Given the description of an element on the screen output the (x, y) to click on. 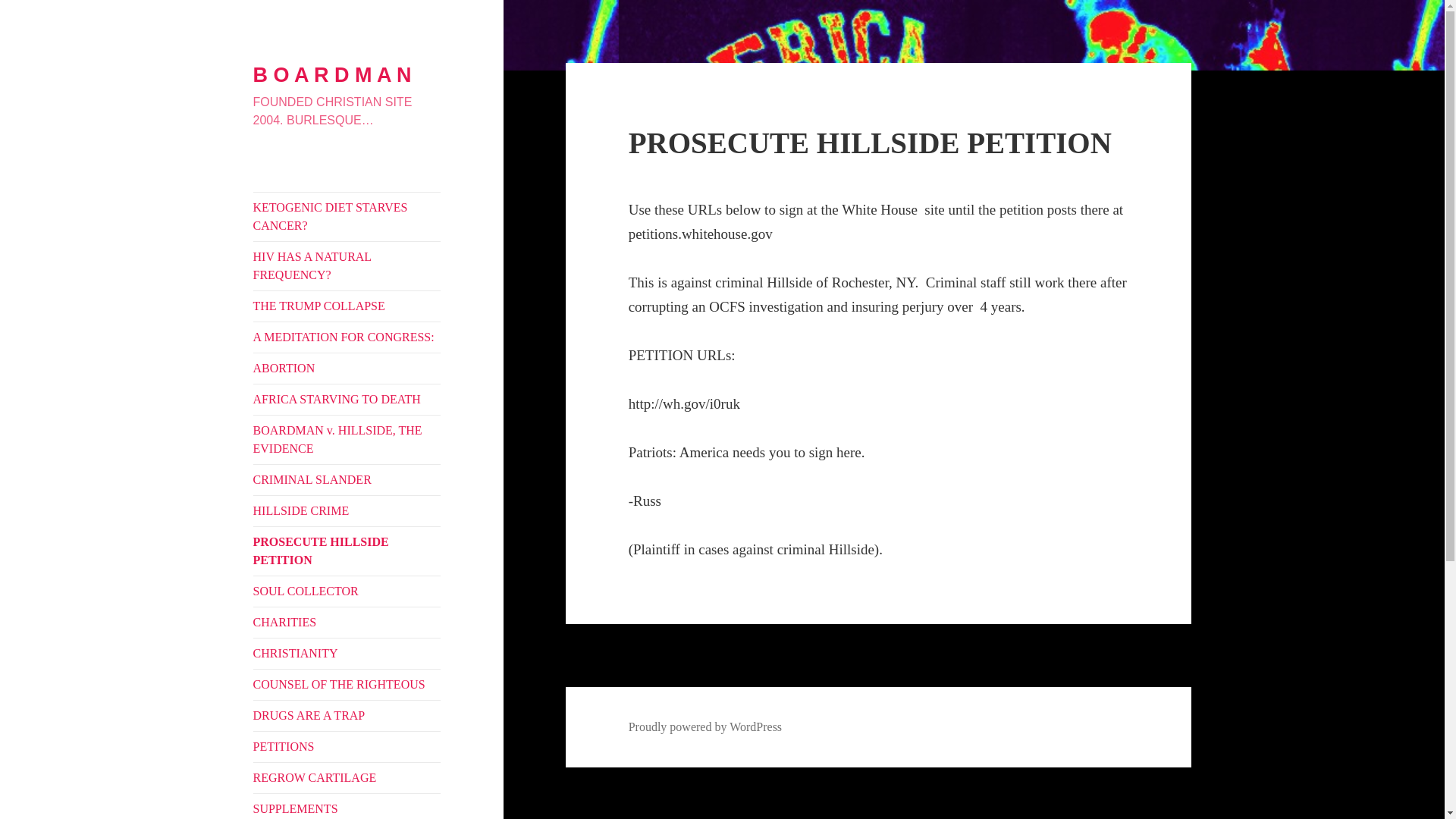
CRIMINAL SLANDER (347, 480)
BOARDMAN v. HILLSIDE, THE EVIDENCE (347, 439)
PROSECUTE HILLSIDE PETITION (347, 551)
B O A R D M A N (332, 74)
A MEDITATION FOR CONGRESS: (347, 337)
REGROW CARTILAGE (347, 777)
THE TRUMP COLLAPSE (347, 306)
SUPPLEMENTS (347, 806)
KETOGENIC DIET STARVES CANCER? (347, 216)
HIV HAS A NATURAL FREQUENCY? (347, 265)
COUNSEL OF THE RIGHTEOUS (347, 684)
AFRICA STARVING TO DEATH (347, 399)
CHARITIES (347, 622)
SOUL COLLECTOR (347, 591)
PETITIONS (347, 747)
